Given the description of an element on the screen output the (x, y) to click on. 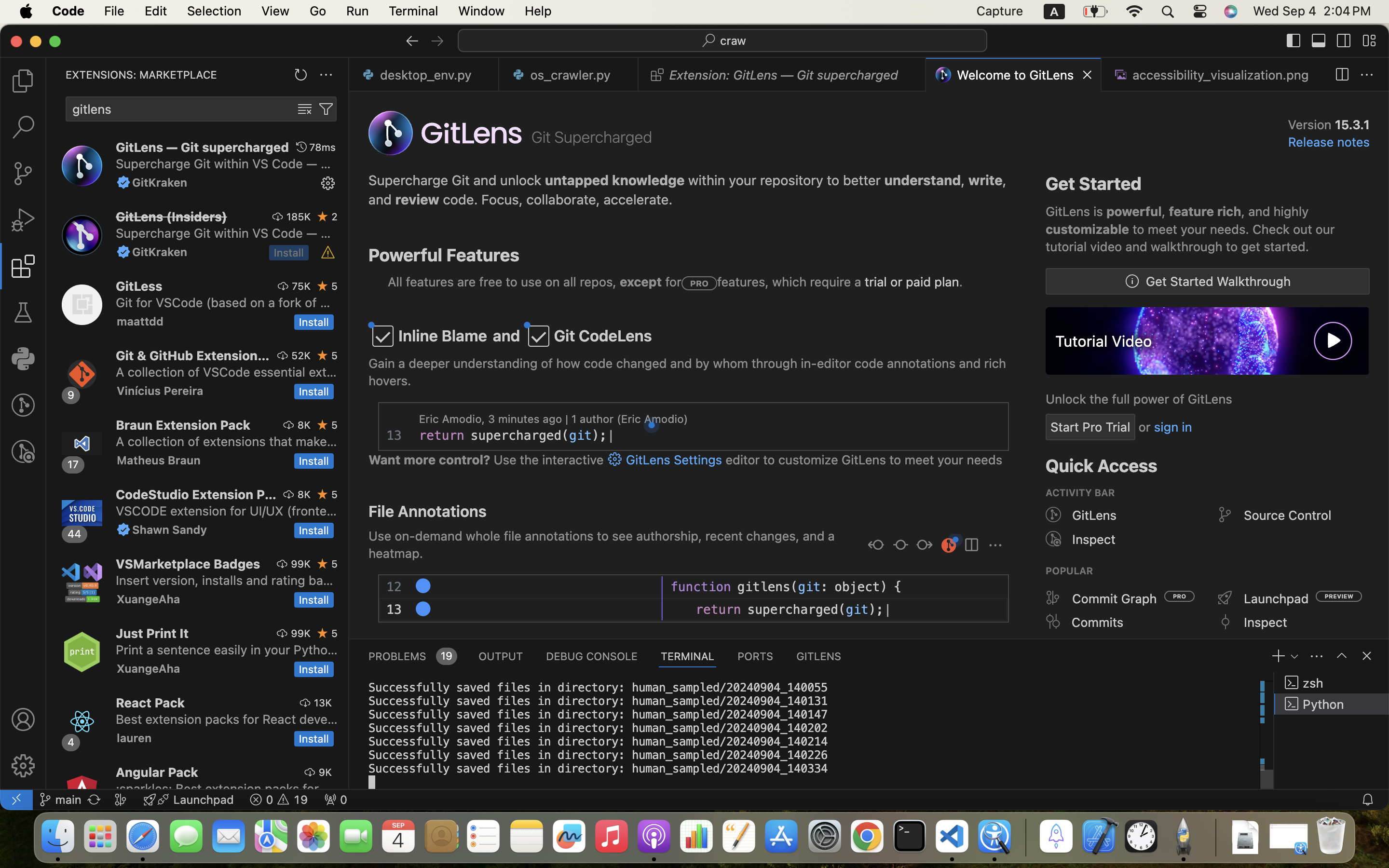
code. Focus, collaborate, accelerate. Element type: AXStaticText (555, 199)
Supercharge Git and unlock Element type: AXStaticText (456, 180)
 Element type: AXStaticText (924, 545)
Python  Element type: AXGroup (1331, 703)
zsh  Element type: AXGroup (1331, 682)
